Given the description of an element on the screen output the (x, y) to click on. 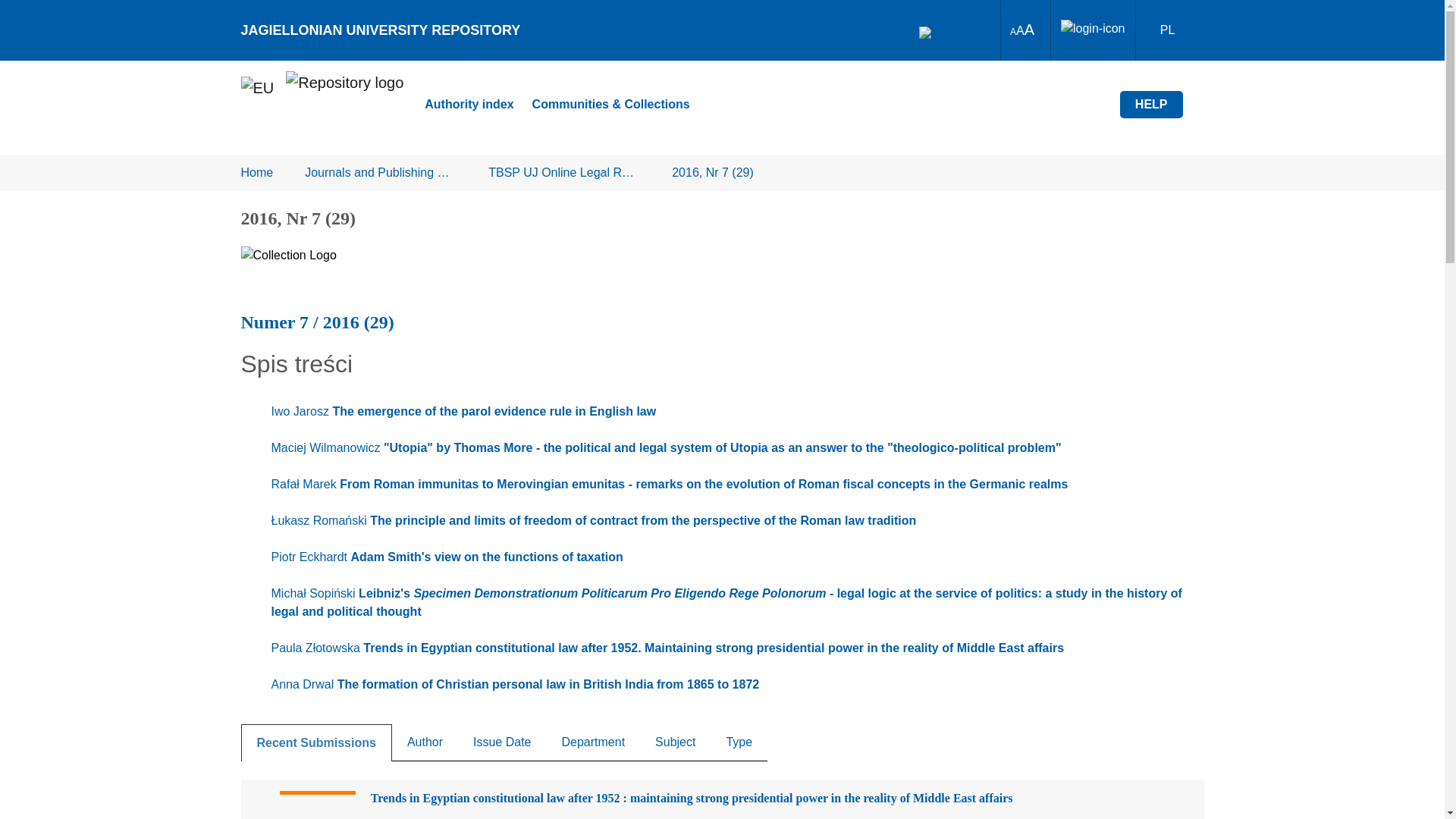
Department (593, 742)
Change text size (1021, 29)
Journals and Publishing Series (380, 172)
Home (257, 172)
Authority index (469, 104)
HELP (1150, 103)
Type (738, 742)
Issue Date (502, 742)
AAA (1021, 29)
Subject (675, 742)
Recent Submissions (316, 742)
